Given the description of an element on the screen output the (x, y) to click on. 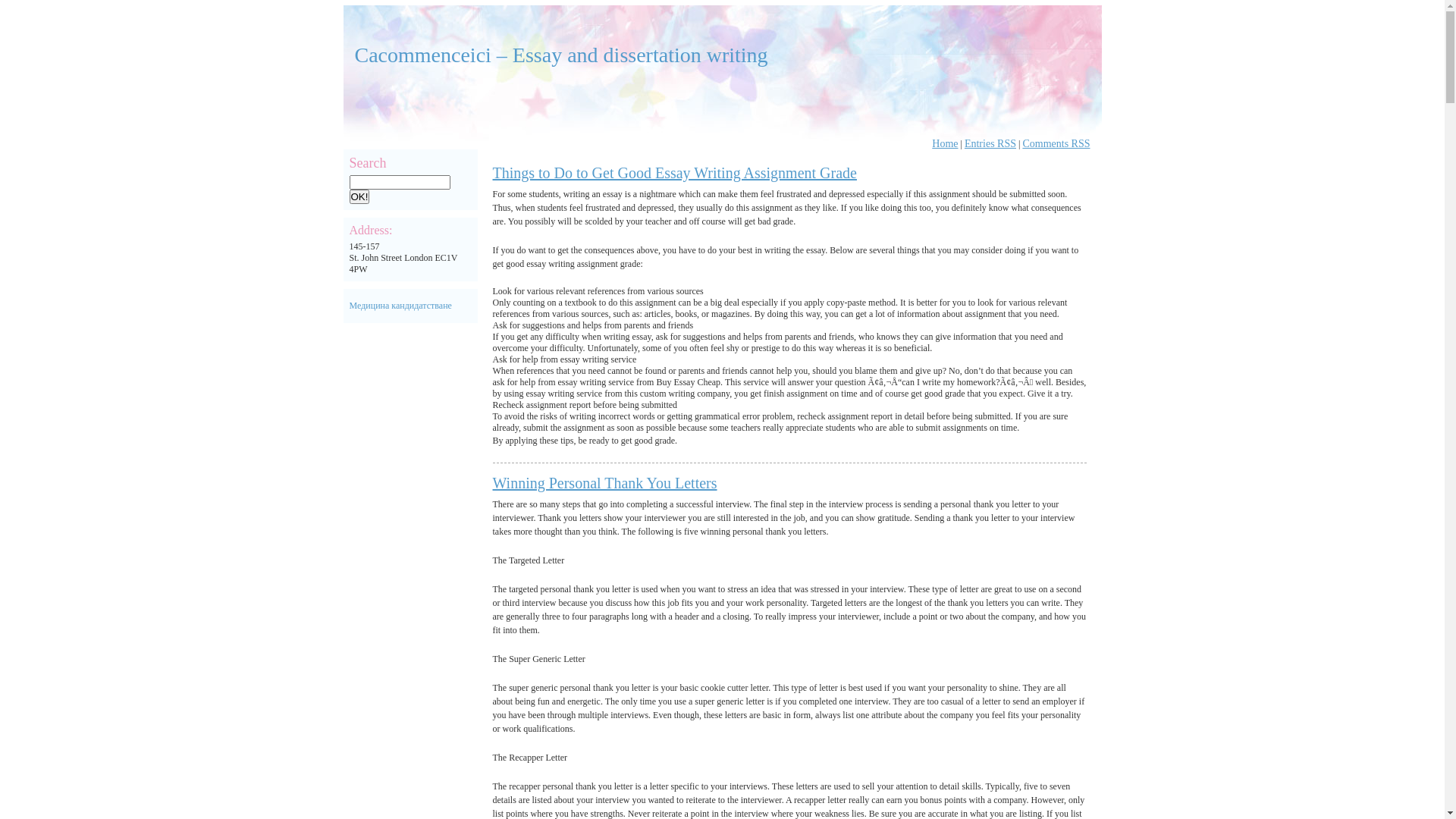
Winning Personal Thank You Letters Element type: text (604, 482)
Home Element type: text (944, 143)
OK! Element type: text (358, 196)
Comments RSS Element type: text (1055, 143)
Things to Do to Get Good Essay Writing Assignment Grade Element type: text (674, 172)
Entries RSS Element type: text (990, 143)
